Given the description of an element on the screen output the (x, y) to click on. 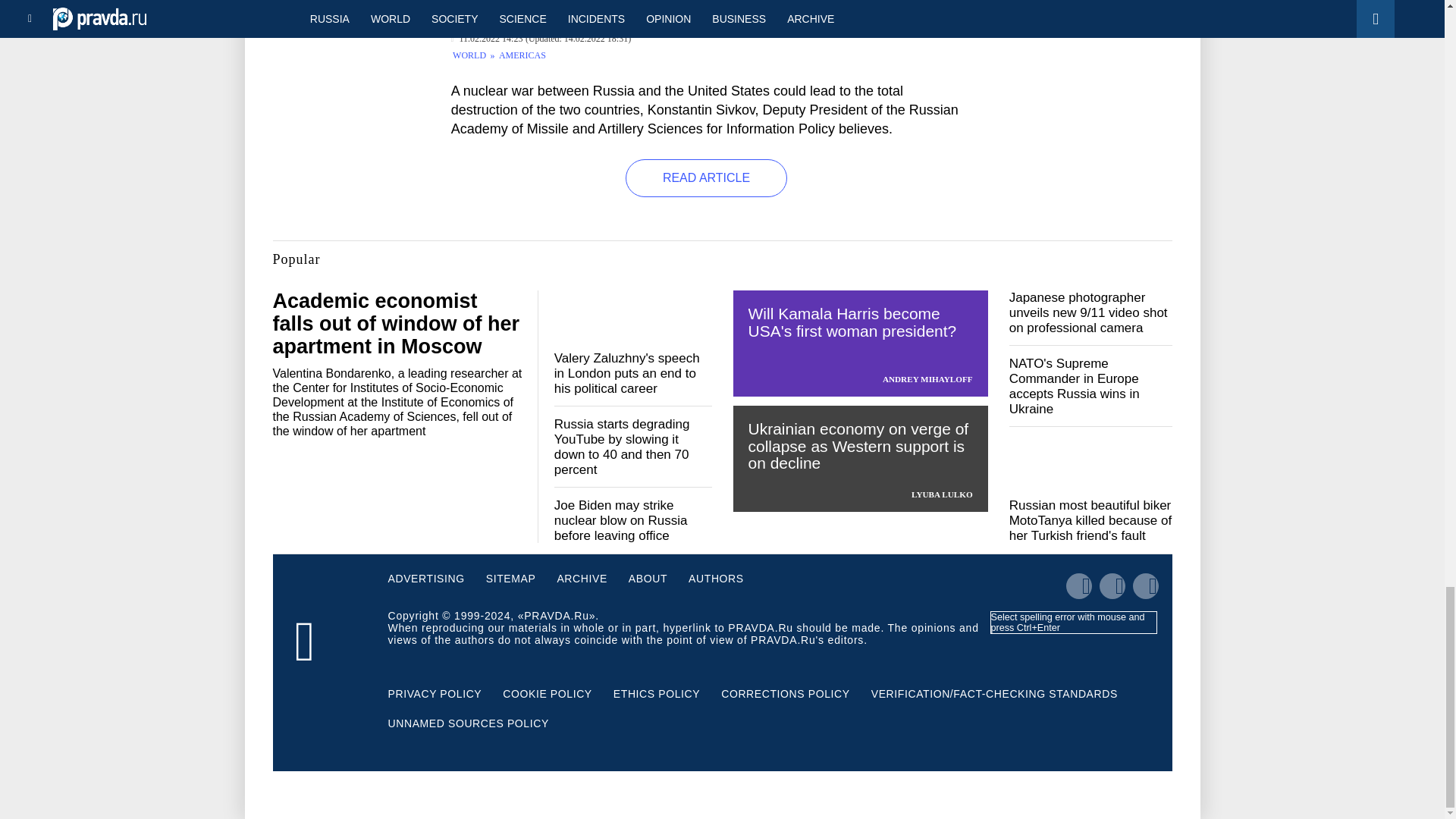
Published (486, 39)
